Given the description of an element on the screen output the (x, y) to click on. 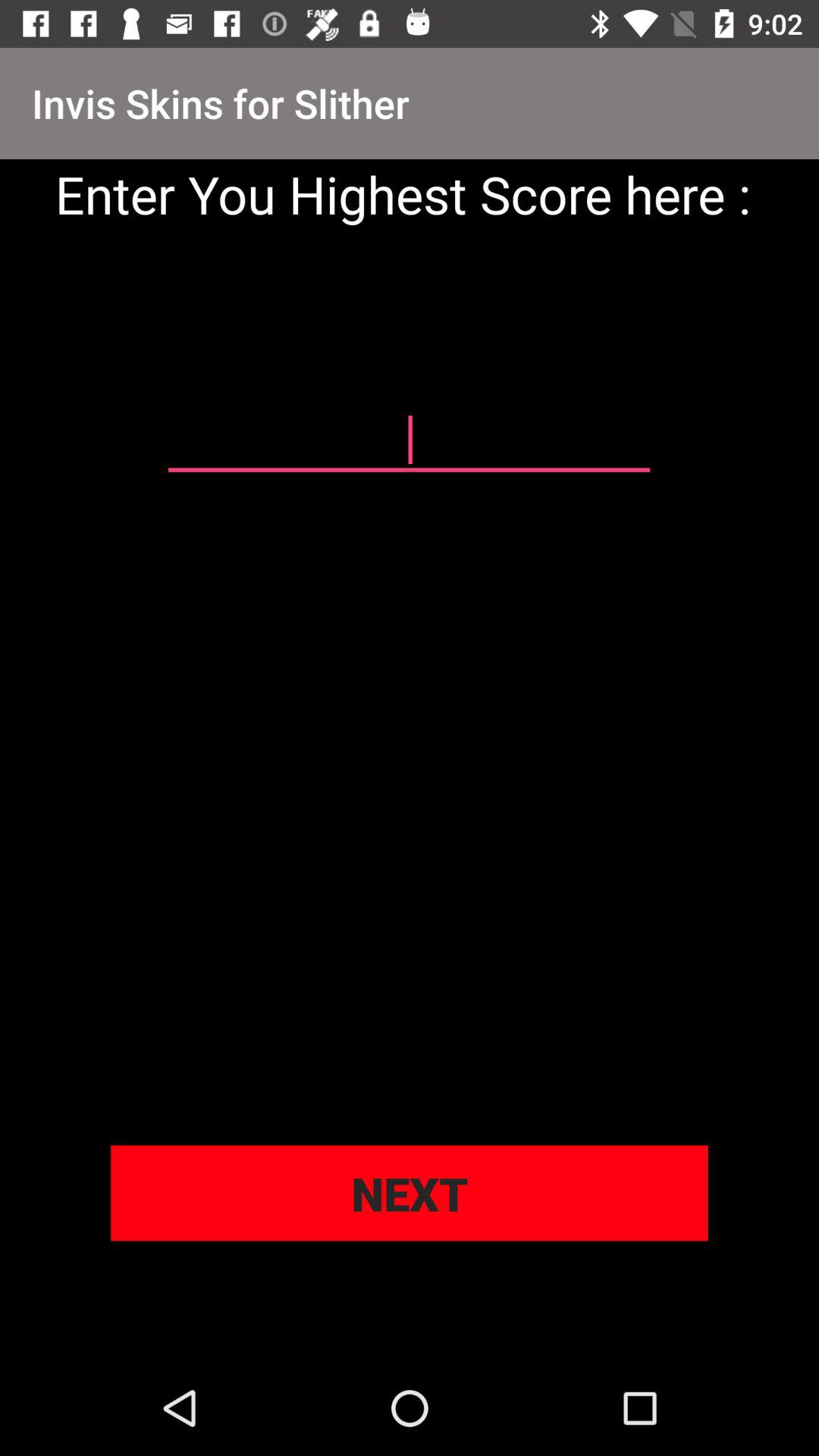
enter your highest score (409, 440)
